Given the description of an element on the screen output the (x, y) to click on. 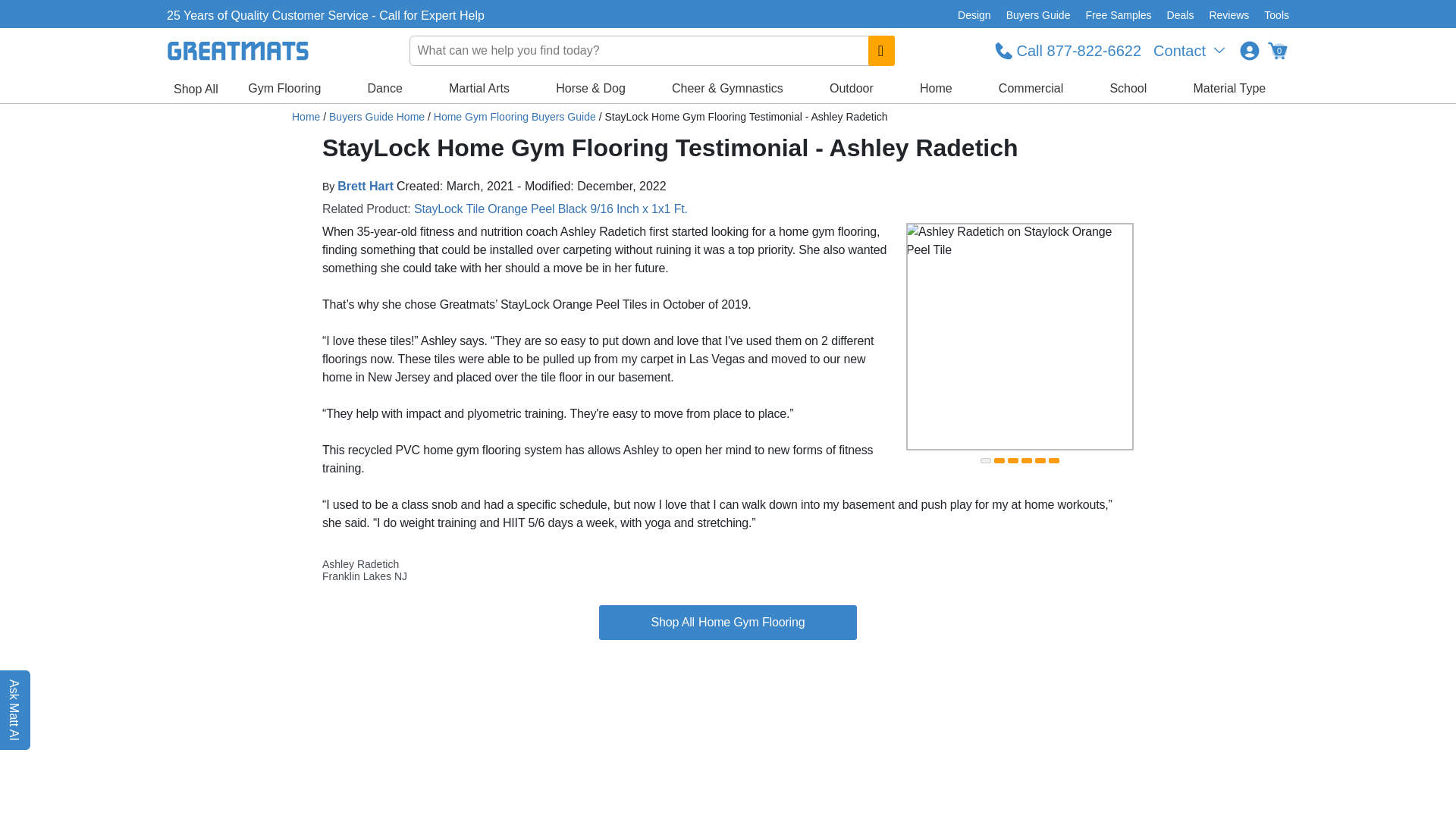
Deals (1180, 15)
Greatmats (306, 116)
Buyers Guide (1038, 15)
Tools (1272, 15)
Reviews (1228, 15)
Contact (1190, 50)
Free Samples (1117, 15)
0 (1277, 50)
Design (974, 15)
Shop All (196, 89)
